Given the description of an element on the screen output the (x, y) to click on. 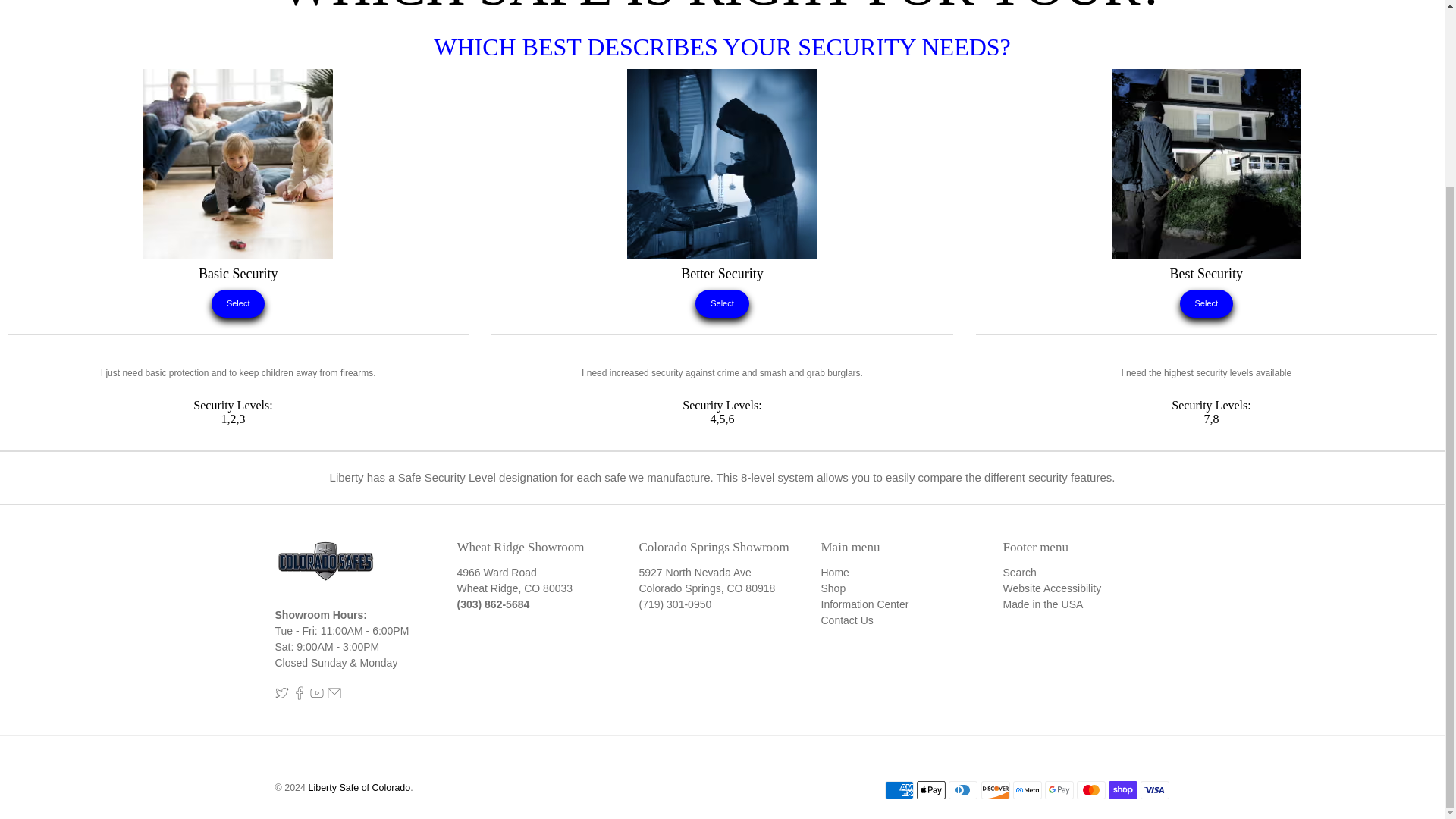
American Express (899, 790)
Email Liberty Safe of Colorado (333, 695)
Visa (1154, 790)
Meta Pay (1027, 790)
Mastercard (1091, 790)
Liberty Safe of Colorado on YouTube (315, 695)
Shop Pay (1122, 790)
Diners Club (962, 790)
Google Pay (1059, 790)
Liberty Safe of Colorado on Facebook (298, 695)
